Given the description of an element on the screen output the (x, y) to click on. 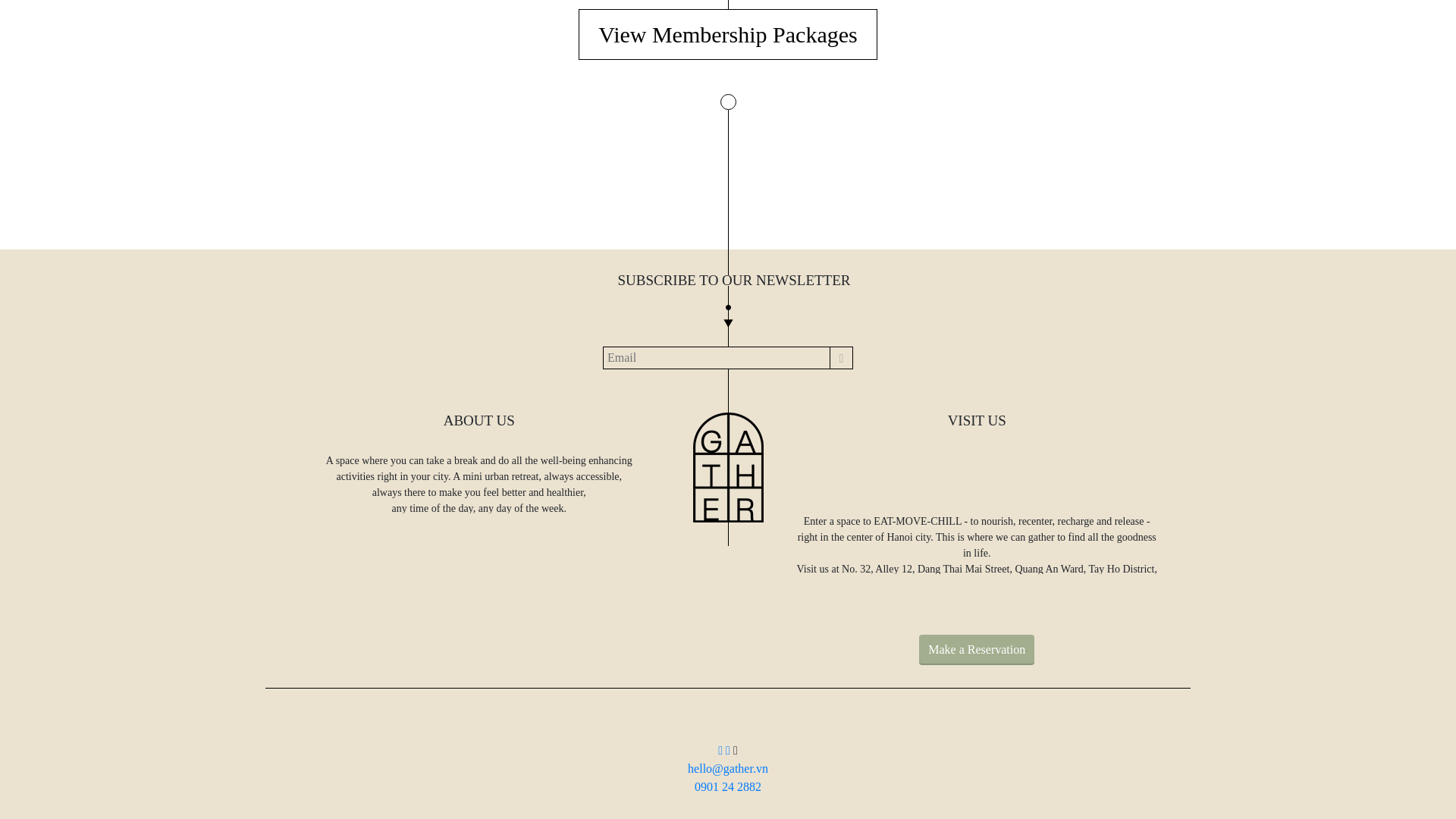
Make a Reservation (975, 649)
View Membership Packages (727, 34)
0901 24 2882 (727, 786)
